Given the description of an element on the screen output the (x, y) to click on. 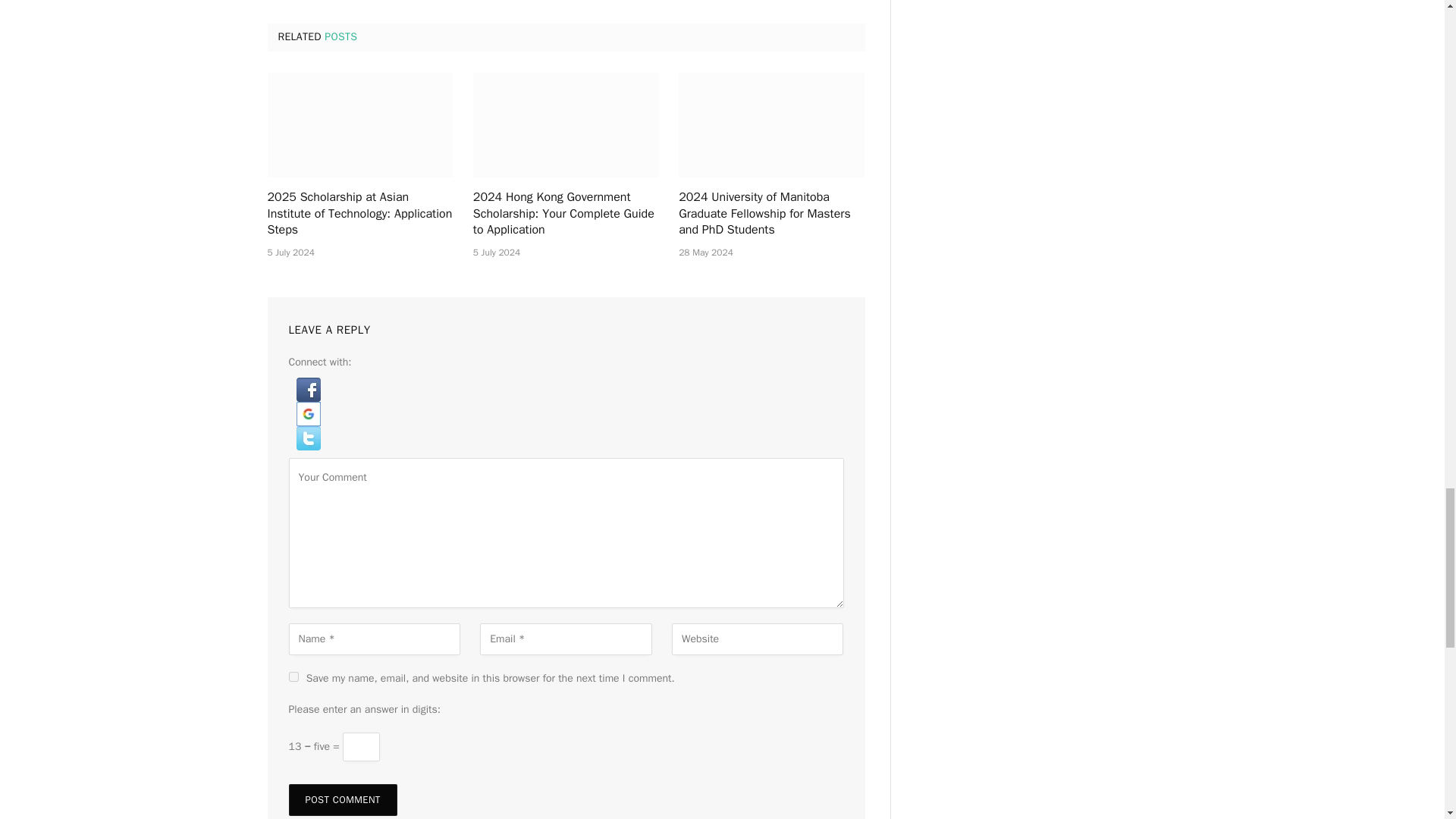
Post Comment (342, 799)
yes (293, 676)
